Given the description of an element on the screen output the (x, y) to click on. 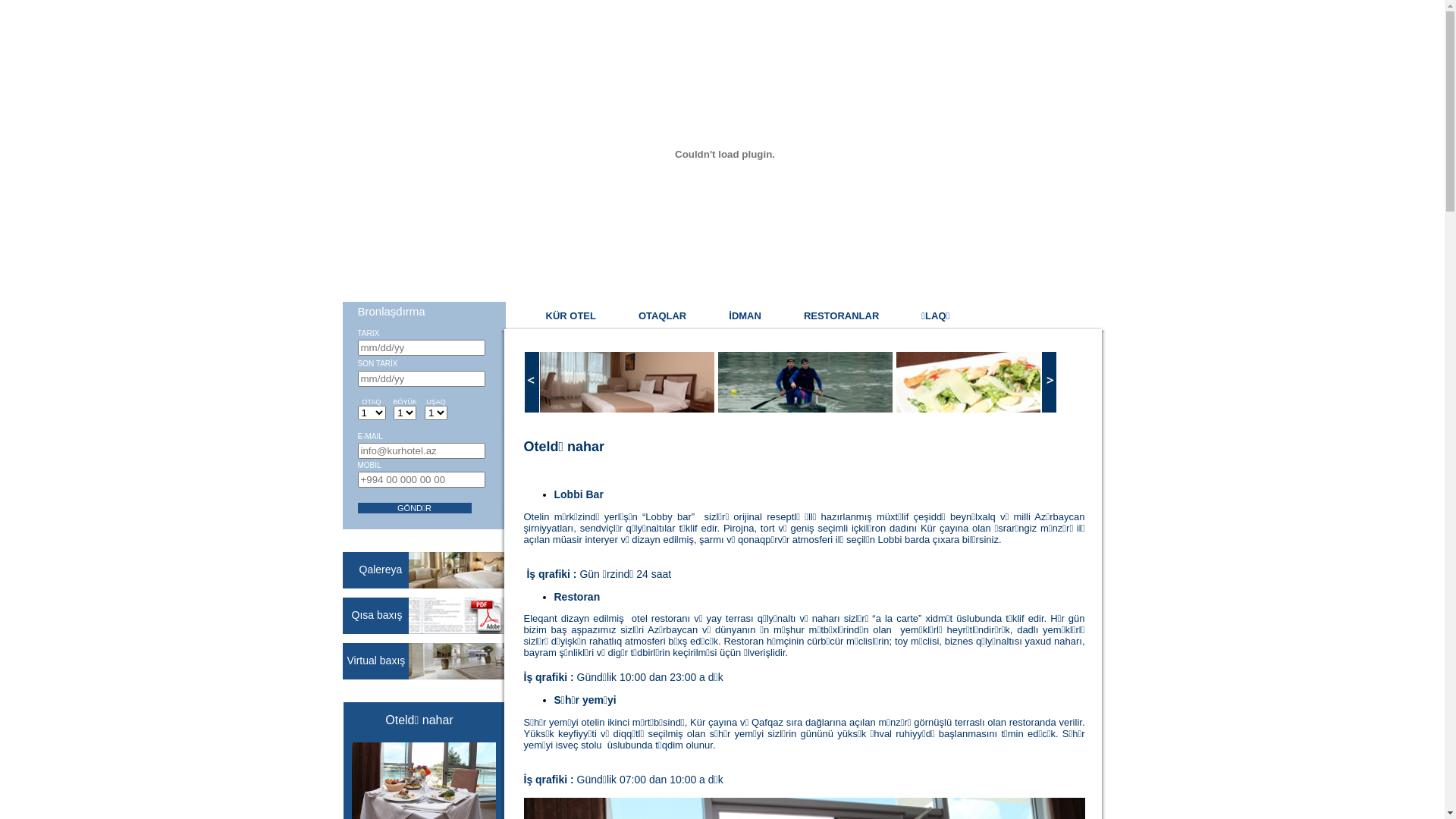
OTAQLAR Element type: text (662, 315)
Qalereya Element type: text (380, 569)
RESTORANLAR Element type: text (841, 315)
